Given the description of an element on the screen output the (x, y) to click on. 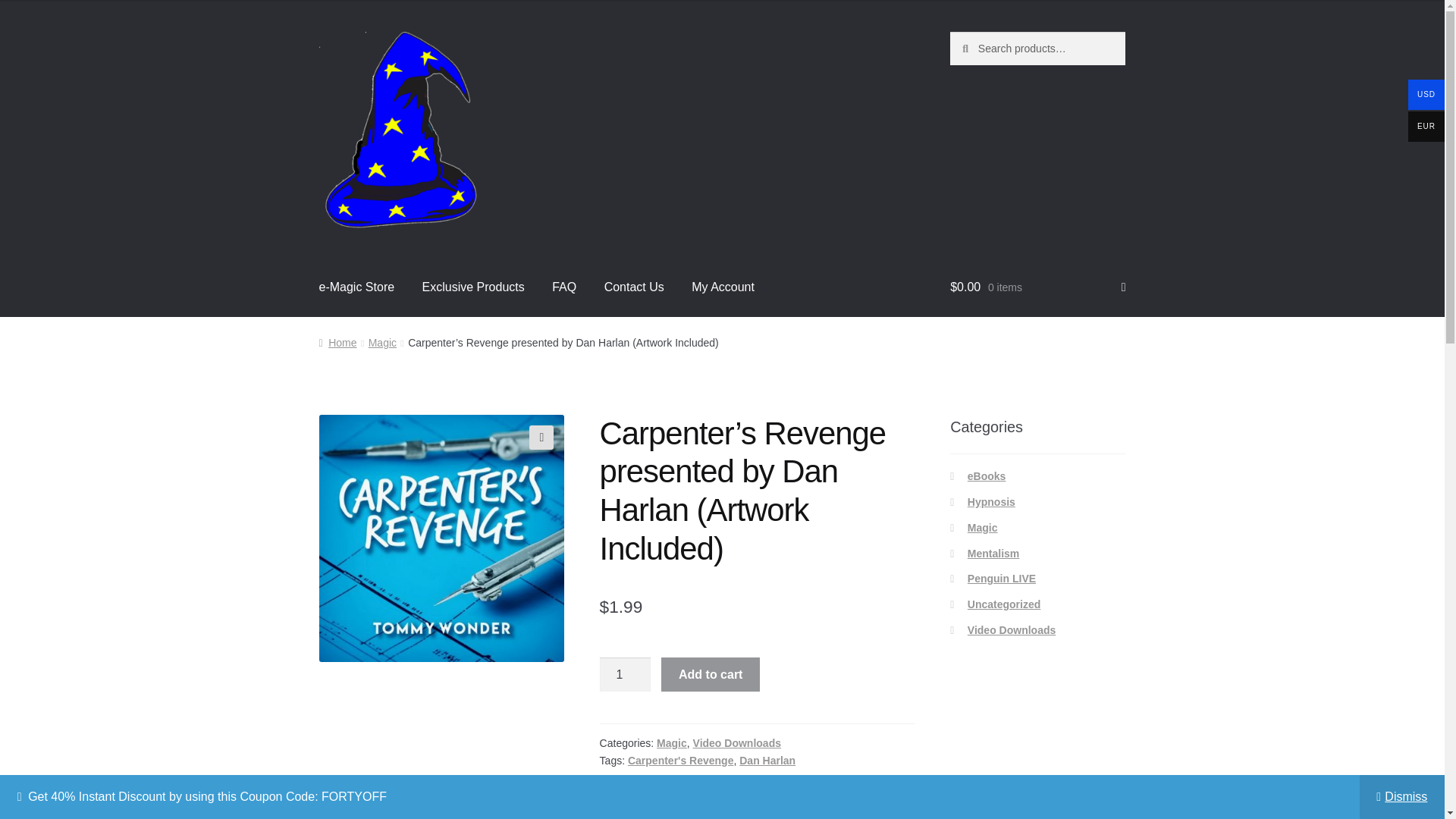
My Account (723, 286)
Exclusive Products (473, 286)
Dan Harlan (766, 760)
eBooks (987, 476)
Mentalism (993, 553)
Hypnosis (991, 501)
Video Downloads (1011, 630)
Home (337, 342)
Add to cart (710, 674)
Video Downloads (736, 743)
Contact Us (634, 286)
View your shopping cart (1037, 286)
Carpenter's Revenge (680, 760)
Magic (982, 527)
1 (624, 674)
